Given the description of an element on the screen output the (x, y) to click on. 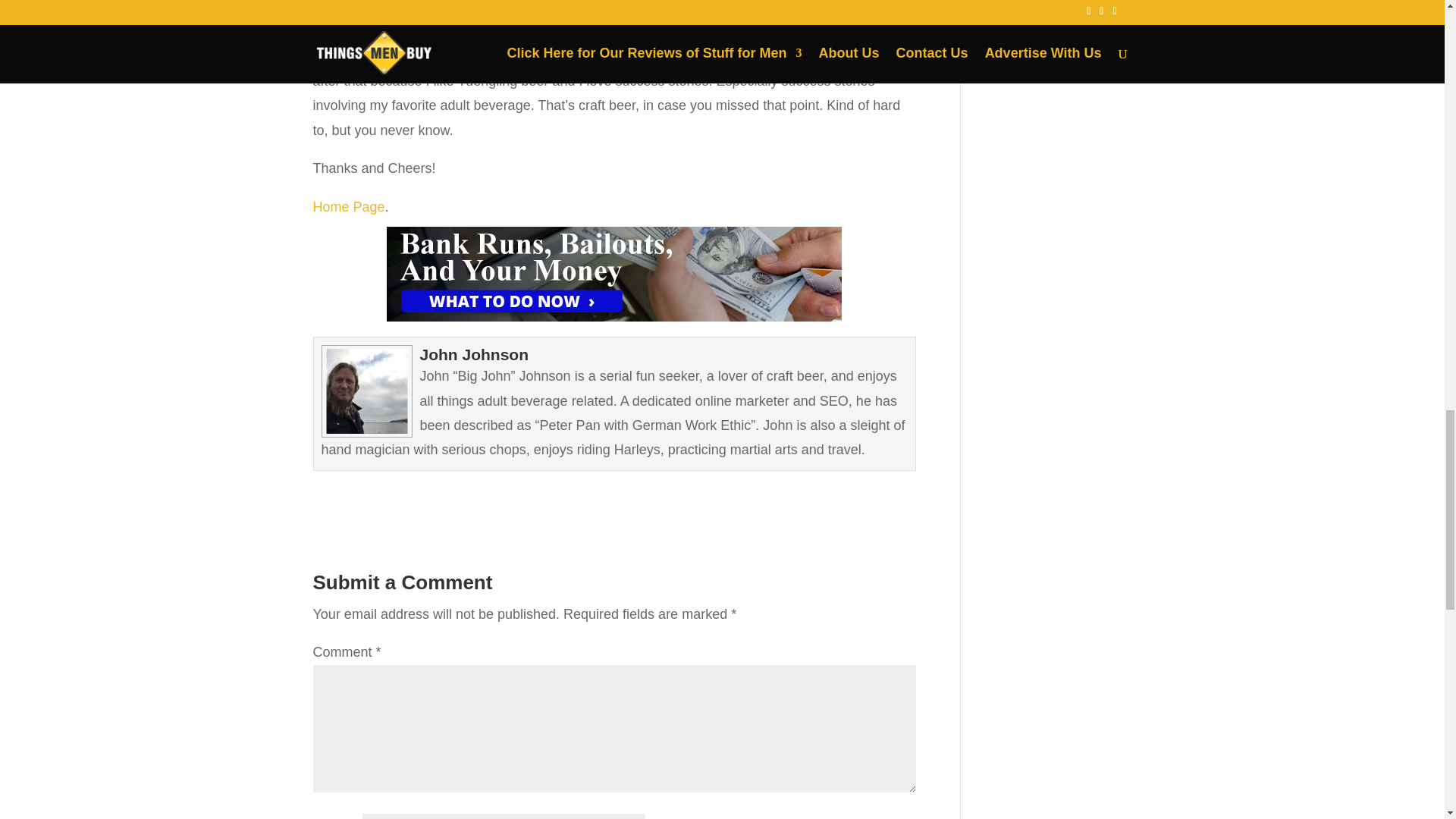
John Johnson (474, 354)
Home Page (348, 206)
